Given the description of an element on the screen output the (x, y) to click on. 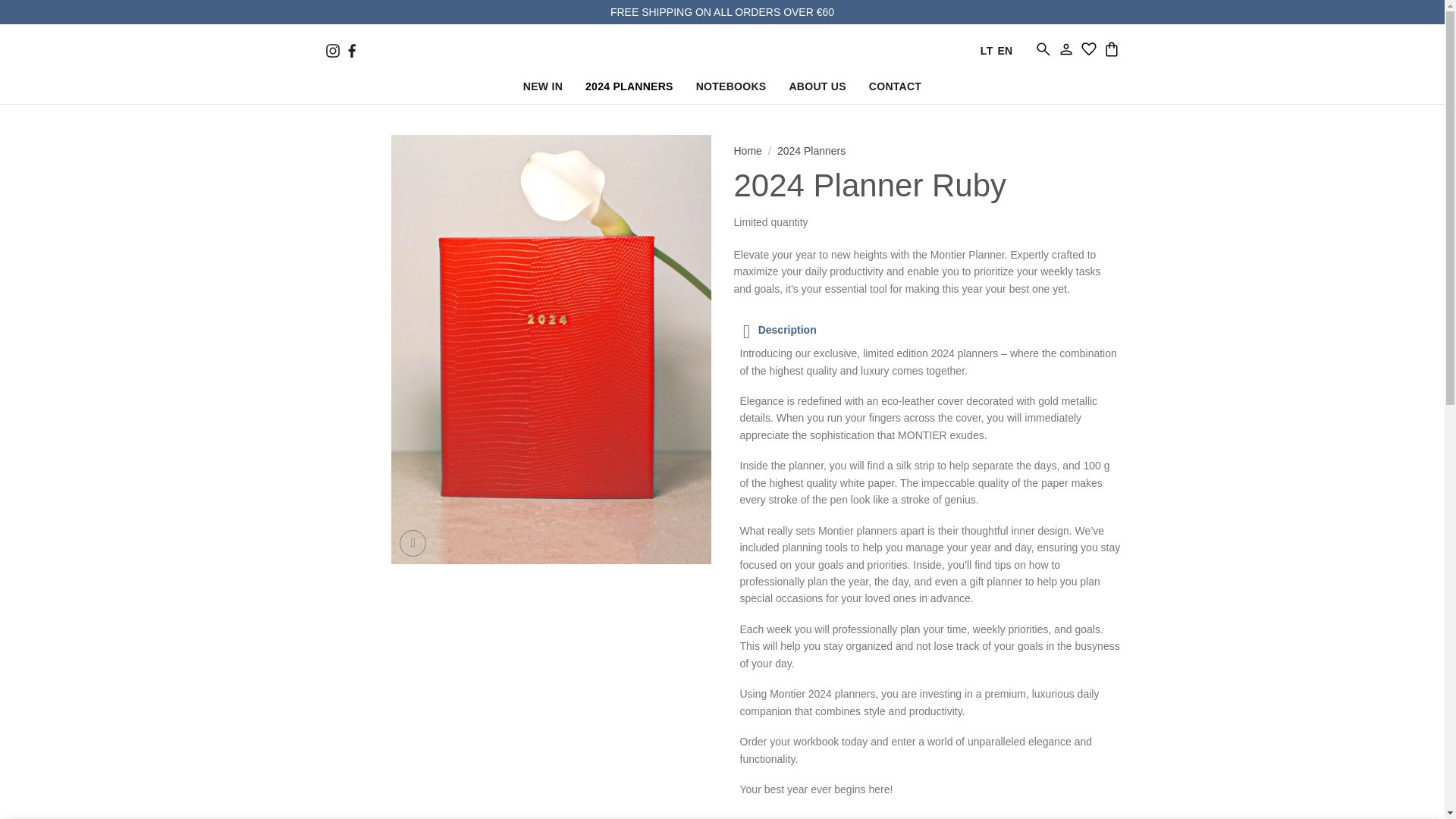
ABOUT US (817, 90)
1 (1190, 254)
Zoom (412, 542)
CONTACT (895, 90)
Home (747, 150)
NEW IN (542, 90)
NOTEBOOKS (731, 90)
Additional information (927, 815)
2024 Planners (811, 150)
Description (927, 329)
2024 PLANNERS (628, 90)
